Given the description of an element on the screen output the (x, y) to click on. 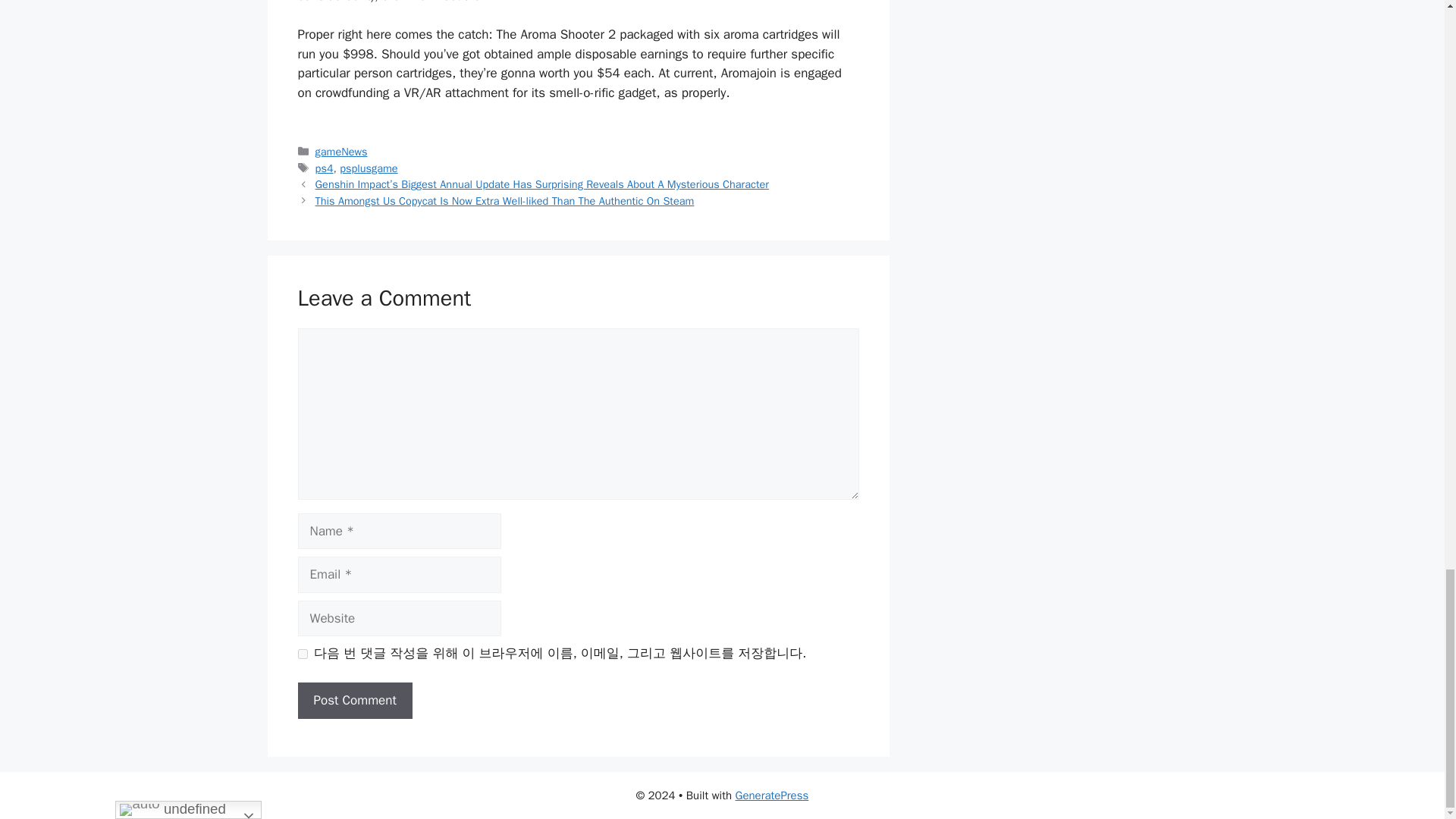
ps4 (324, 168)
psplusgame (368, 168)
yes (302, 654)
gameNews (341, 151)
Post Comment (354, 700)
